Given the description of an element on the screen output the (x, y) to click on. 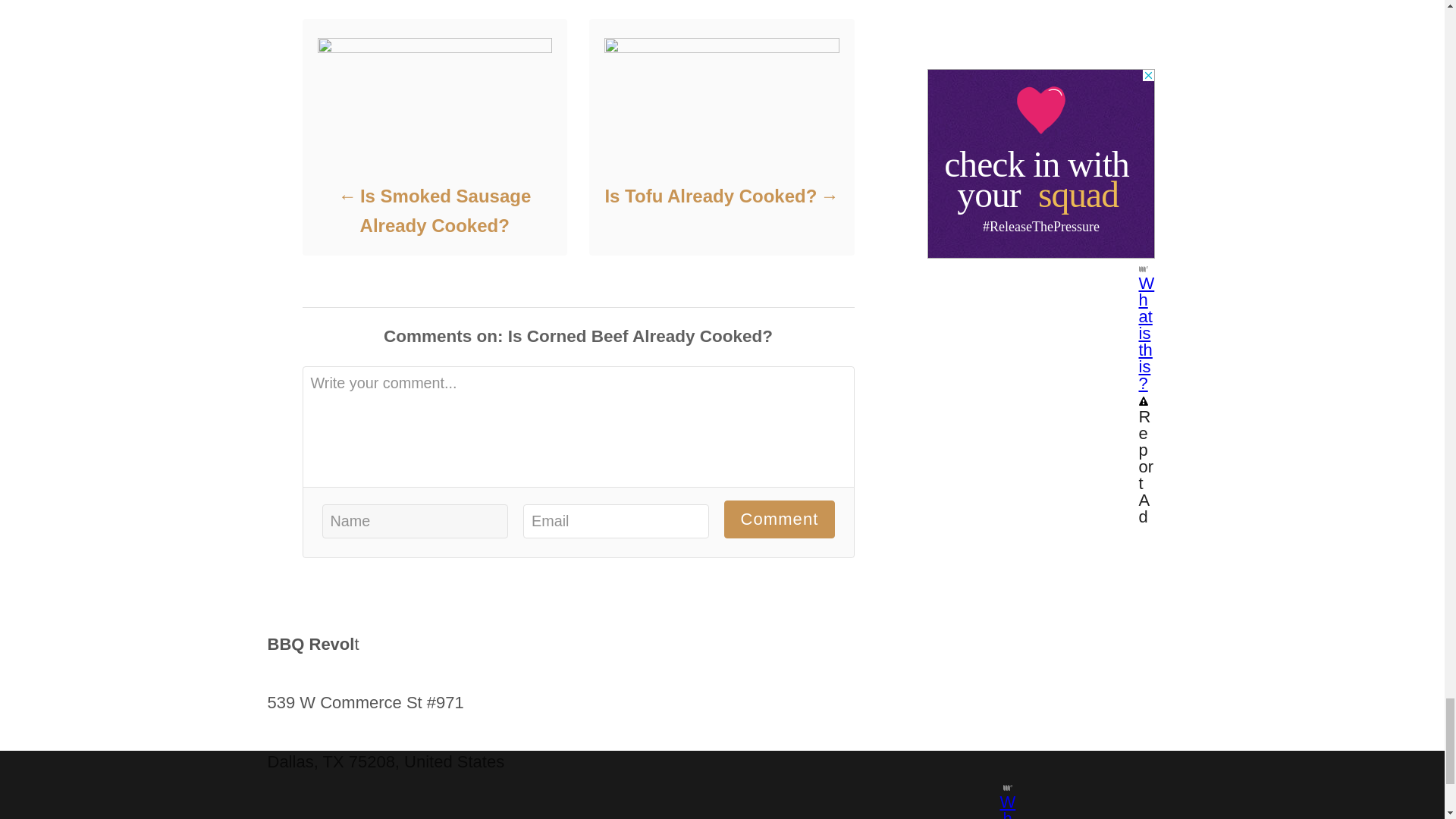
Is Smoked Sausage Already Cooked? (434, 210)
Comment (778, 519)
Is Tofu Already Cooked? (721, 195)
